Given the description of an element on the screen output the (x, y) to click on. 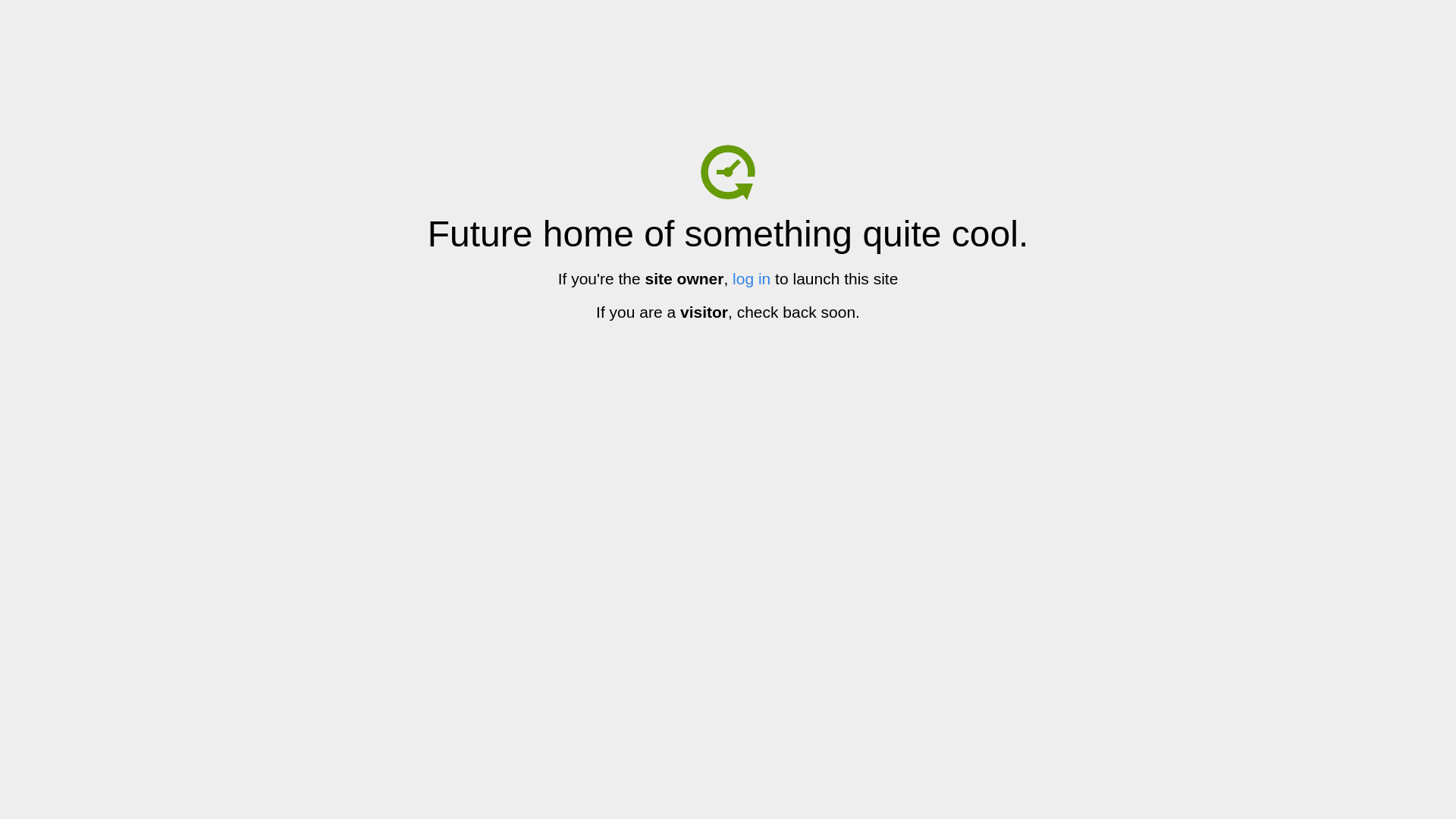
log in Element type: text (751, 278)
